Given the description of an element on the screen output the (x, y) to click on. 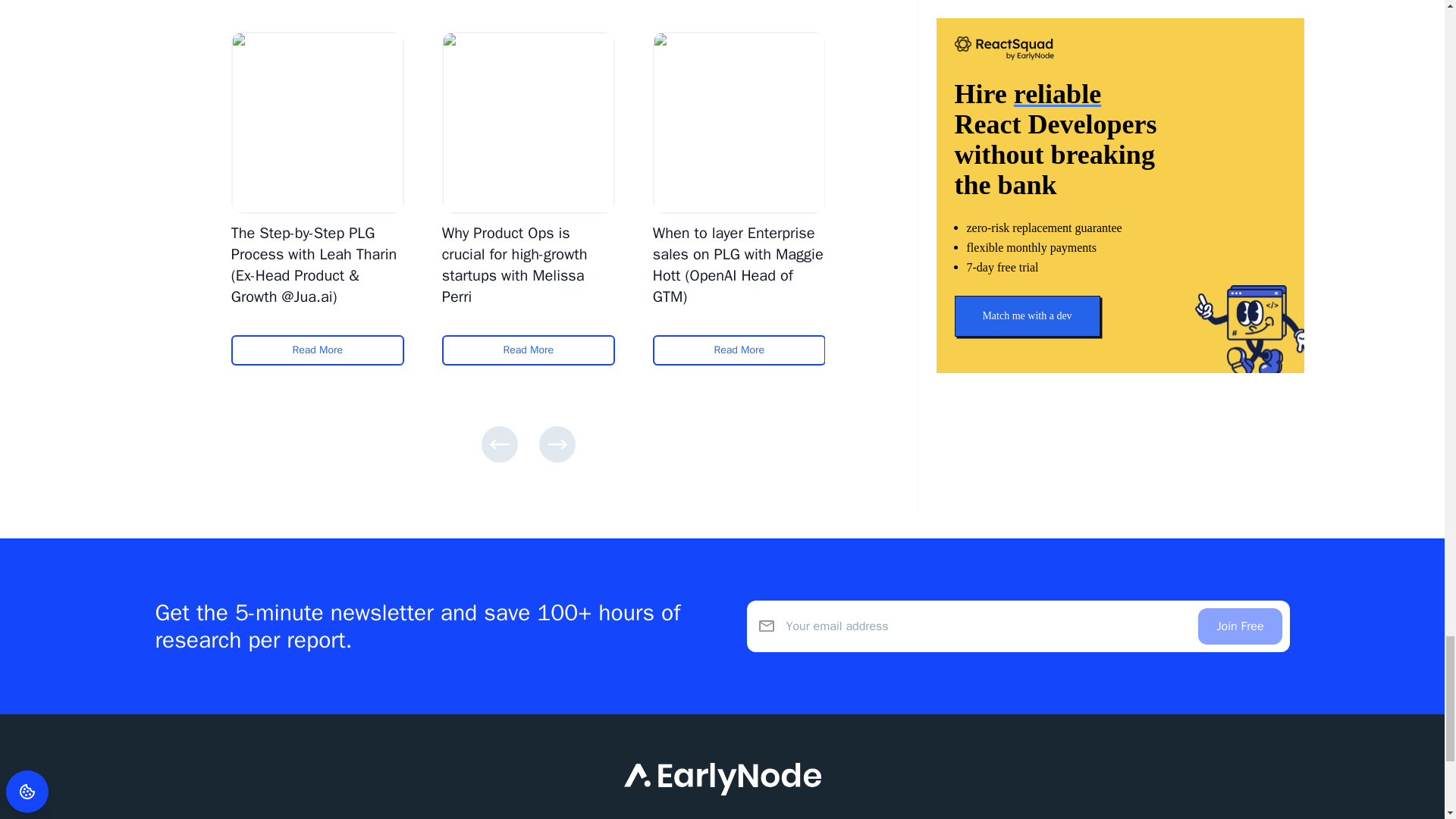
right (556, 443)
Join Free (1239, 626)
left (498, 443)
